Given the description of an element on the screen output the (x, y) to click on. 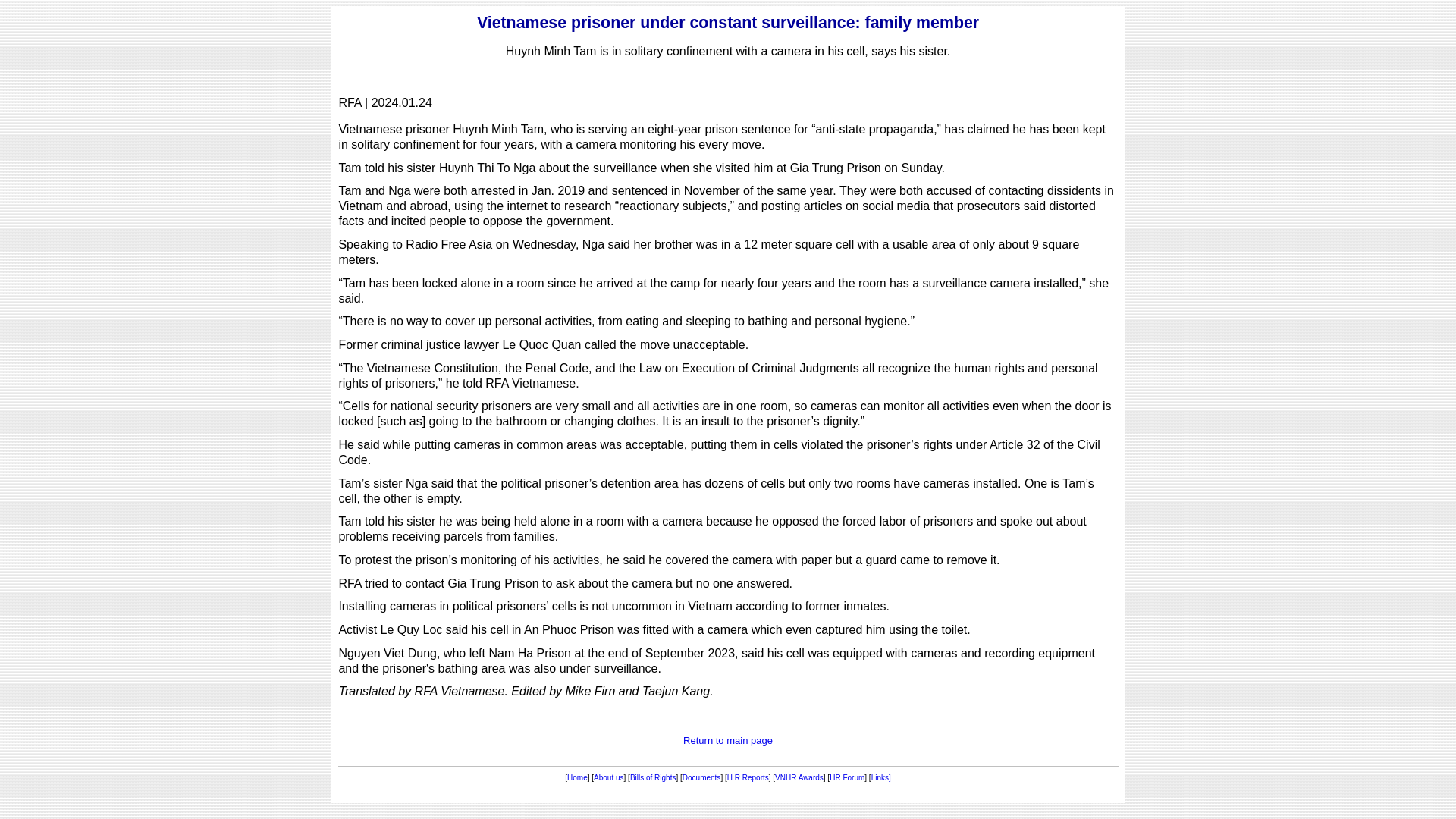
About us (608, 777)
H R Reports (747, 777)
Home (577, 777)
VNHR Awards (799, 777)
Bills of Rights (653, 777)
RFA (349, 102)
HR Forum (846, 777)
Documents (701, 777)
Return to main page (727, 740)
